Given the description of an element on the screen output the (x, y) to click on. 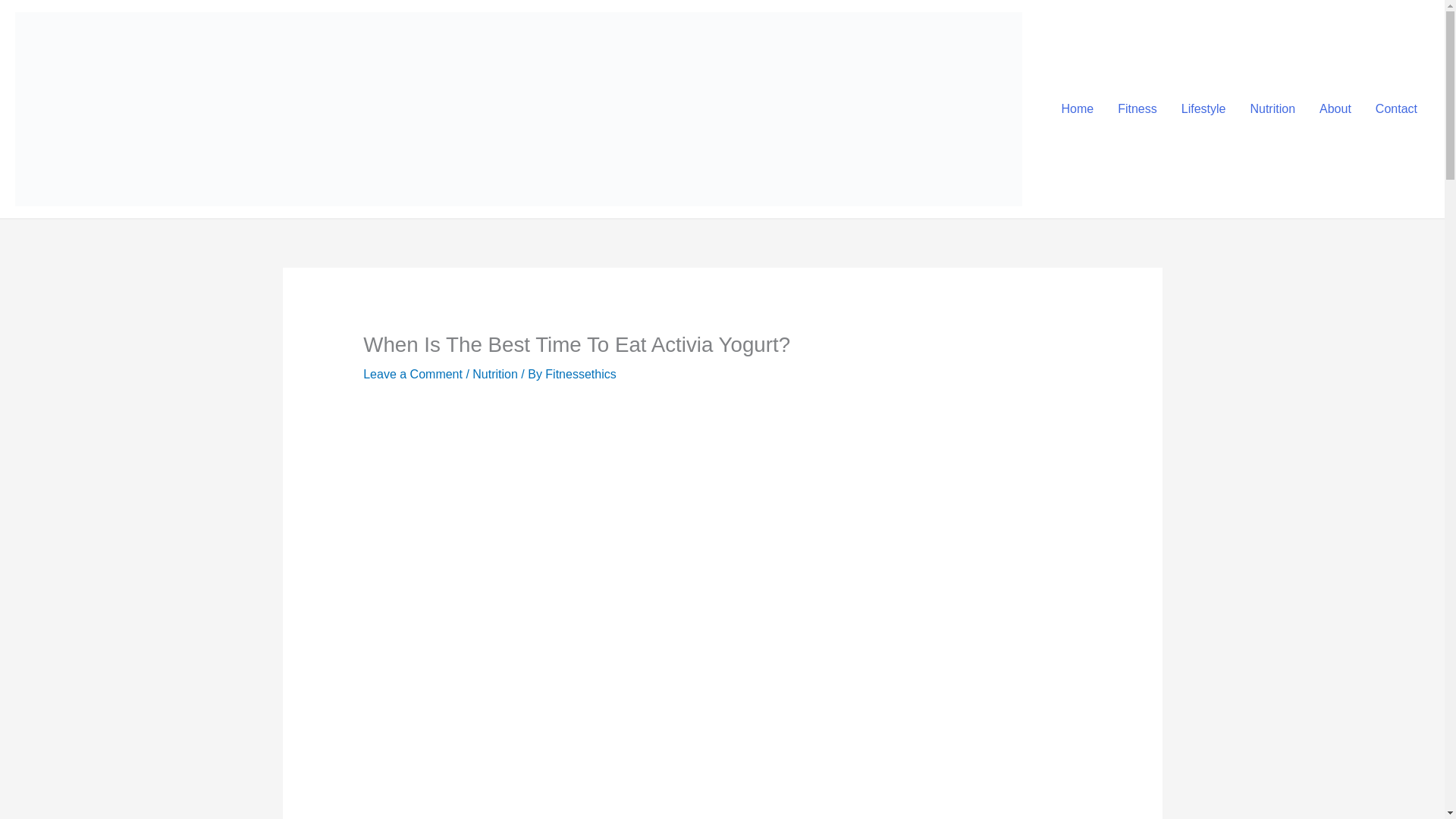
Fitnessethics (579, 373)
Fitness (1137, 108)
Nutrition (1272, 108)
View all posts by Fitnessethics (579, 373)
Lifestyle (1204, 108)
Leave a Comment (412, 373)
Nutrition (494, 373)
Home (1077, 108)
About (1334, 108)
Contact (1395, 108)
